Given the description of an element on the screen output the (x, y) to click on. 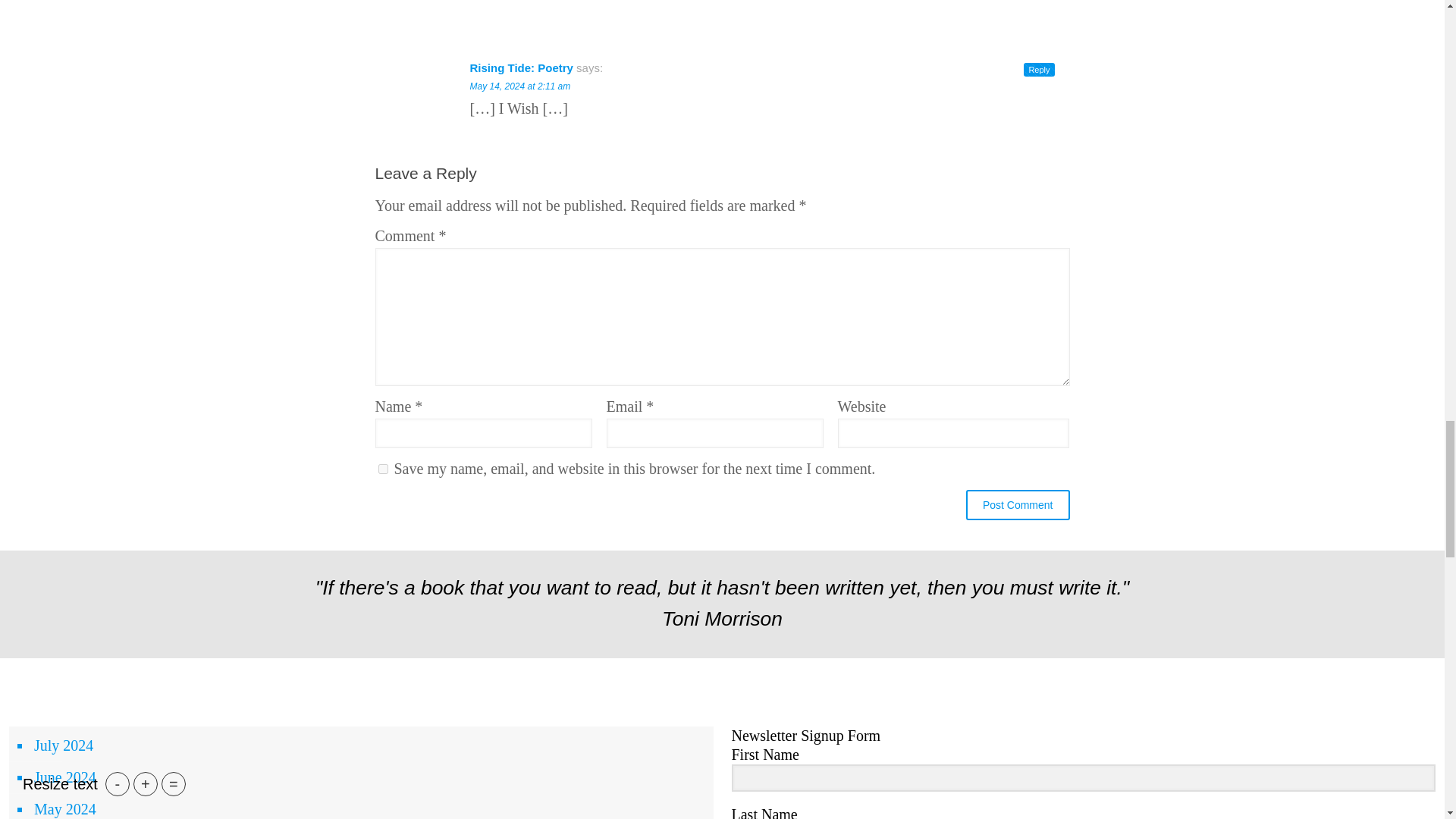
Post Comment (1018, 504)
yes (382, 469)
